Given the description of an element on the screen output the (x, y) to click on. 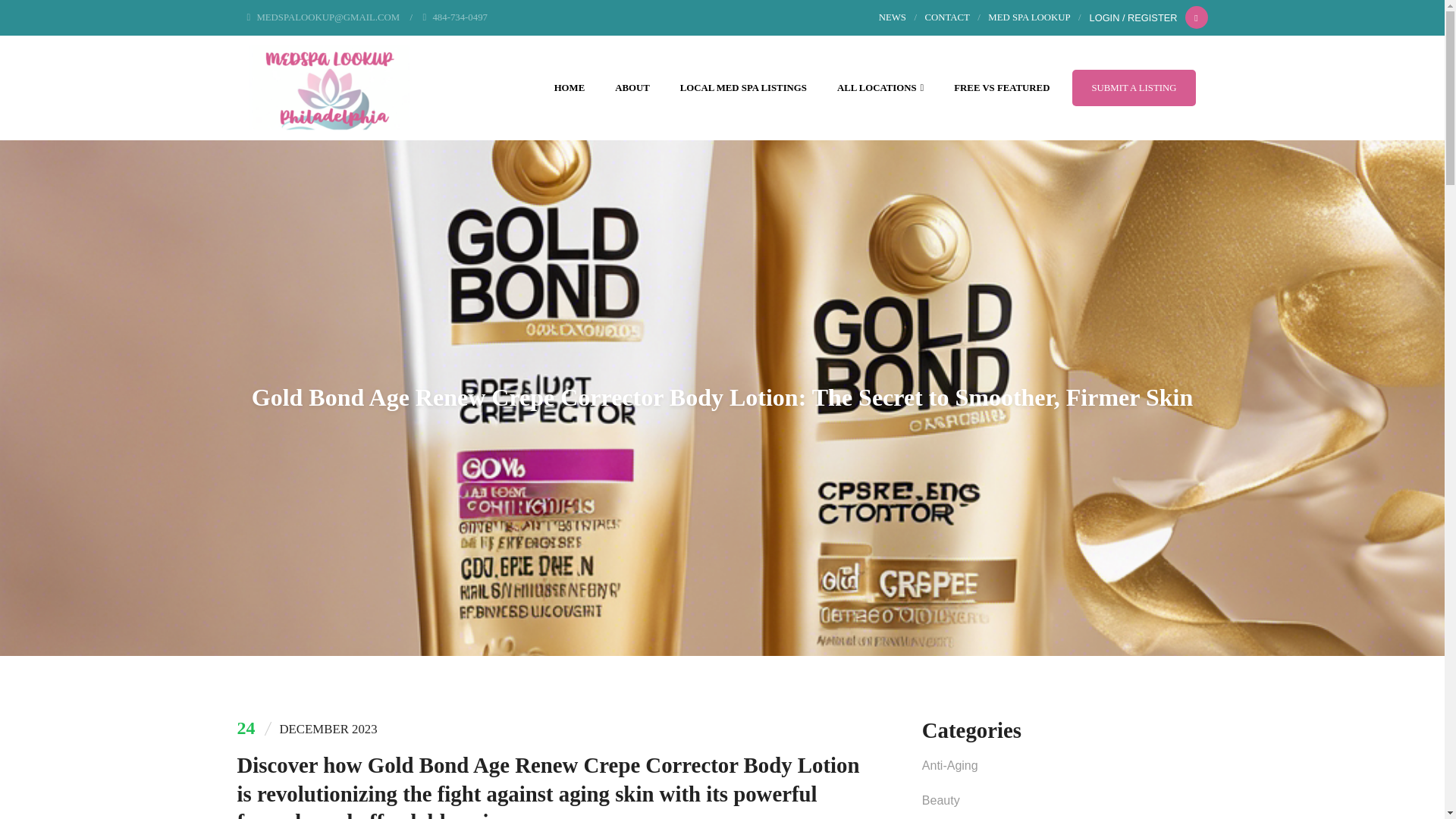
FREE VS FEATURED (1001, 87)
HOME (569, 87)
SUBMIT A LISTING (1133, 87)
ALL LOCATIONS (880, 87)
NEWS (892, 17)
ABOUT (632, 87)
484-734-0497 (455, 17)
CONTACT (946, 17)
LOCAL MED SPA LISTINGS (742, 87)
MED SPA LOOKUP (1029, 17)
